Given the description of an element on the screen output the (x, y) to click on. 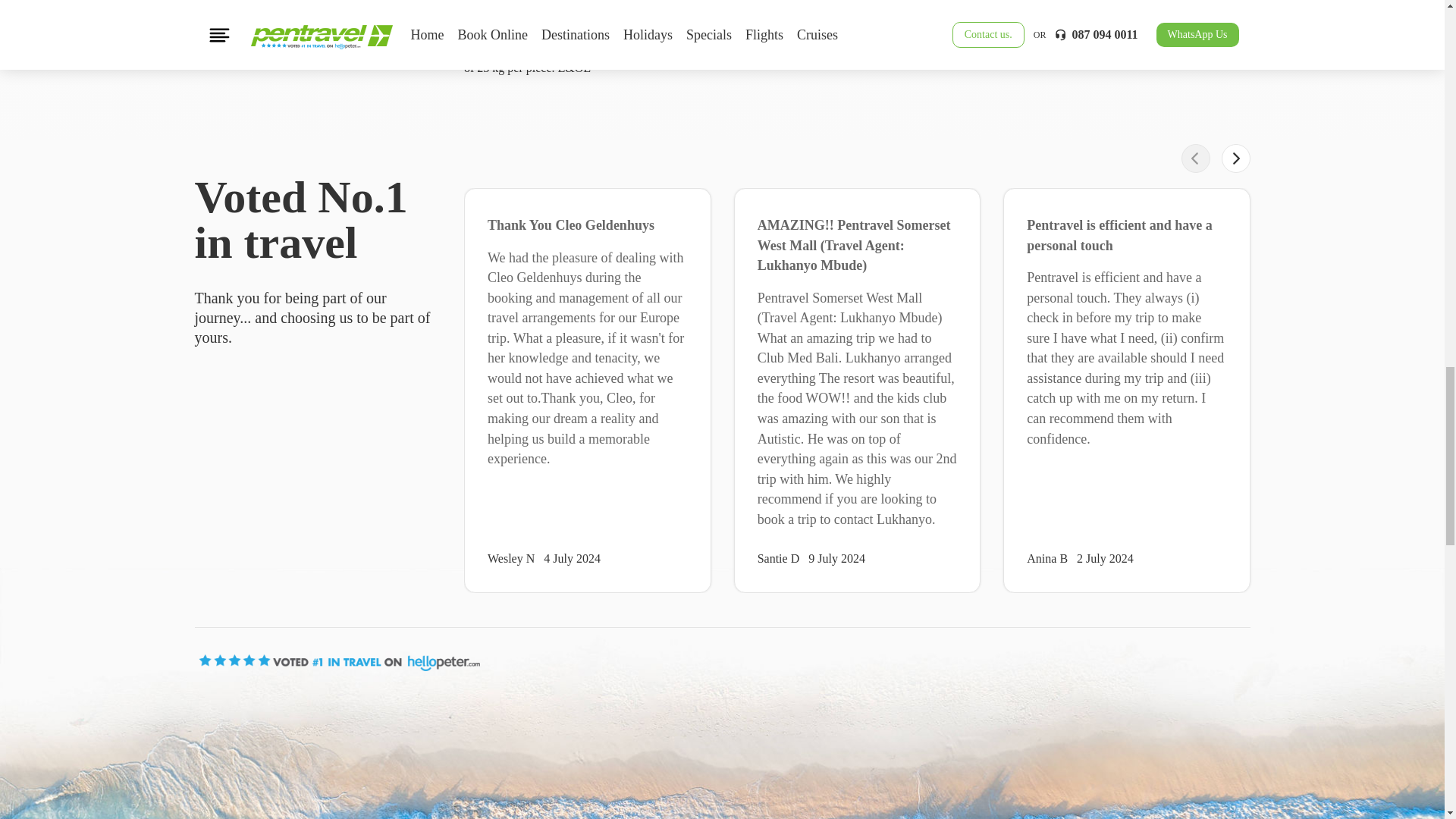
Enquire now (1020, 50)
Enquire now (1020, 96)
Enquire now (1020, 8)
